Given the description of an element on the screen output the (x, y) to click on. 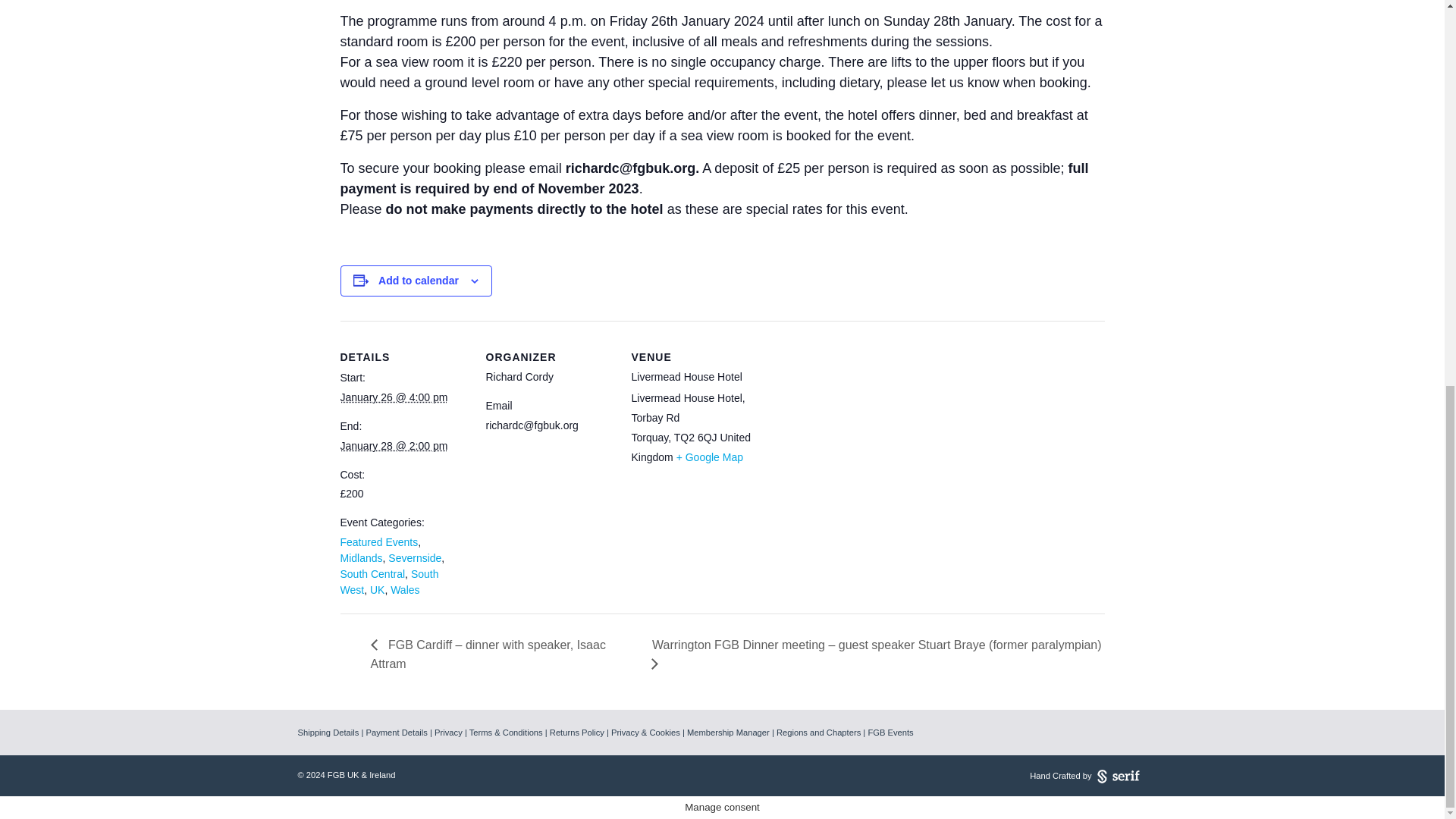
2024-01-26 (392, 397)
Click to view a Google Map (709, 457)
2024-01-28 (392, 445)
